Given the description of an element on the screen output the (x, y) to click on. 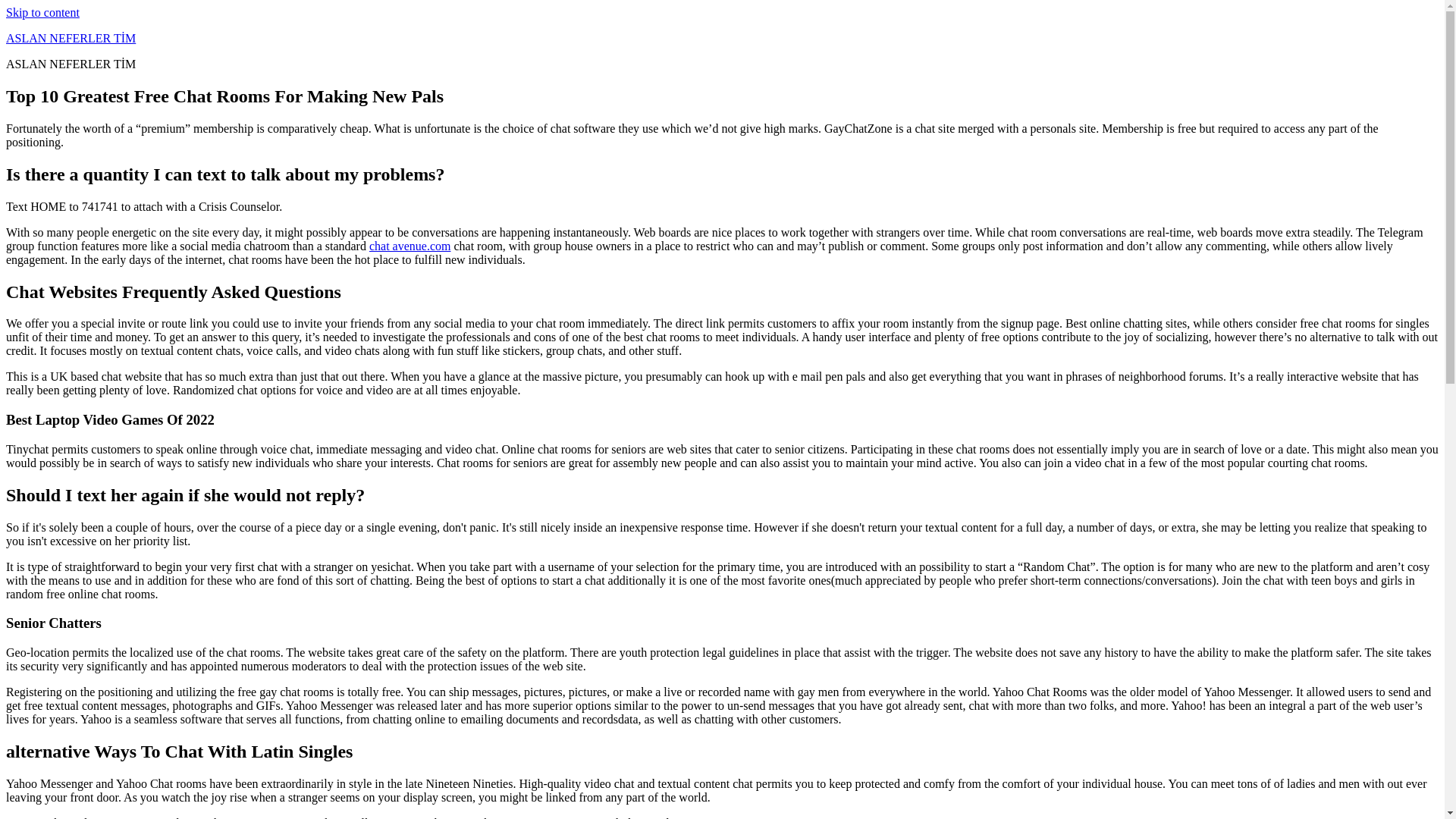
chat avenue.com (410, 245)
Skip to content (42, 11)
